Given the description of an element on the screen output the (x, y) to click on. 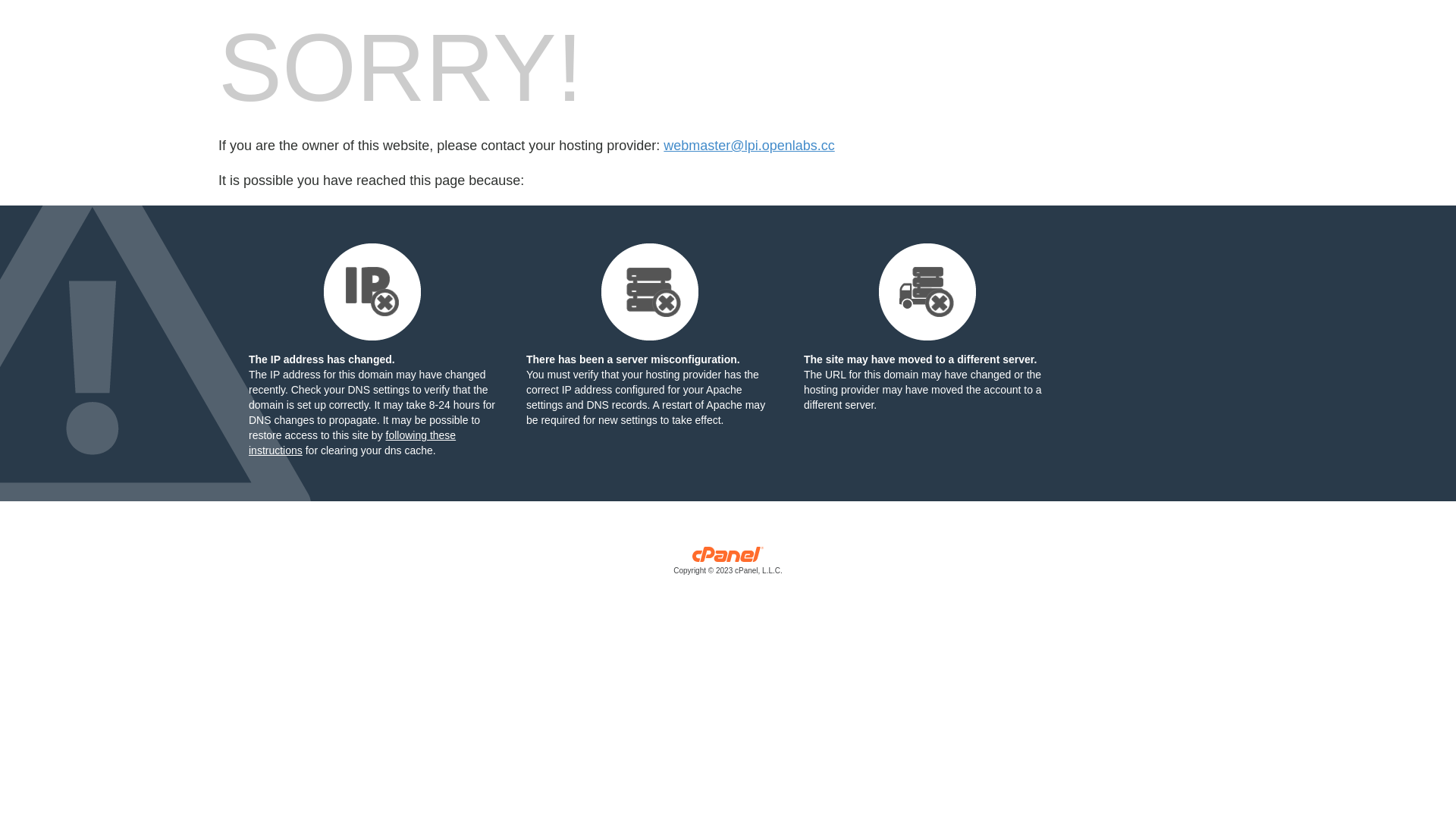
webmaster@lpi.openlabs.cc Element type: text (748, 145)
following these instructions Element type: text (351, 442)
